Given the description of an element on the screen output the (x, y) to click on. 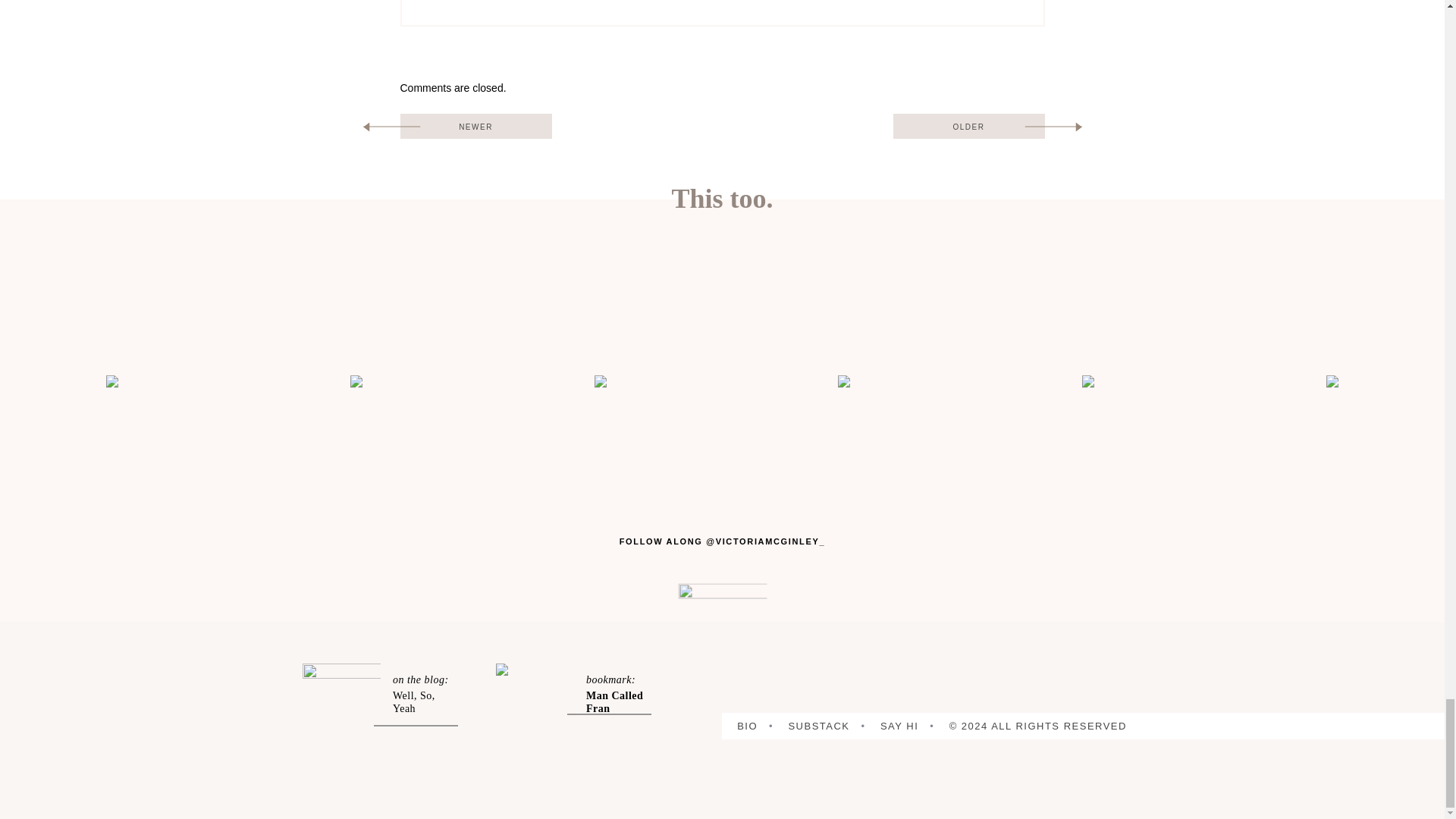
NEWER (475, 126)
OLDER (969, 126)
Victoria McGinley Studio (722, 621)
